Given the description of an element on the screen output the (x, y) to click on. 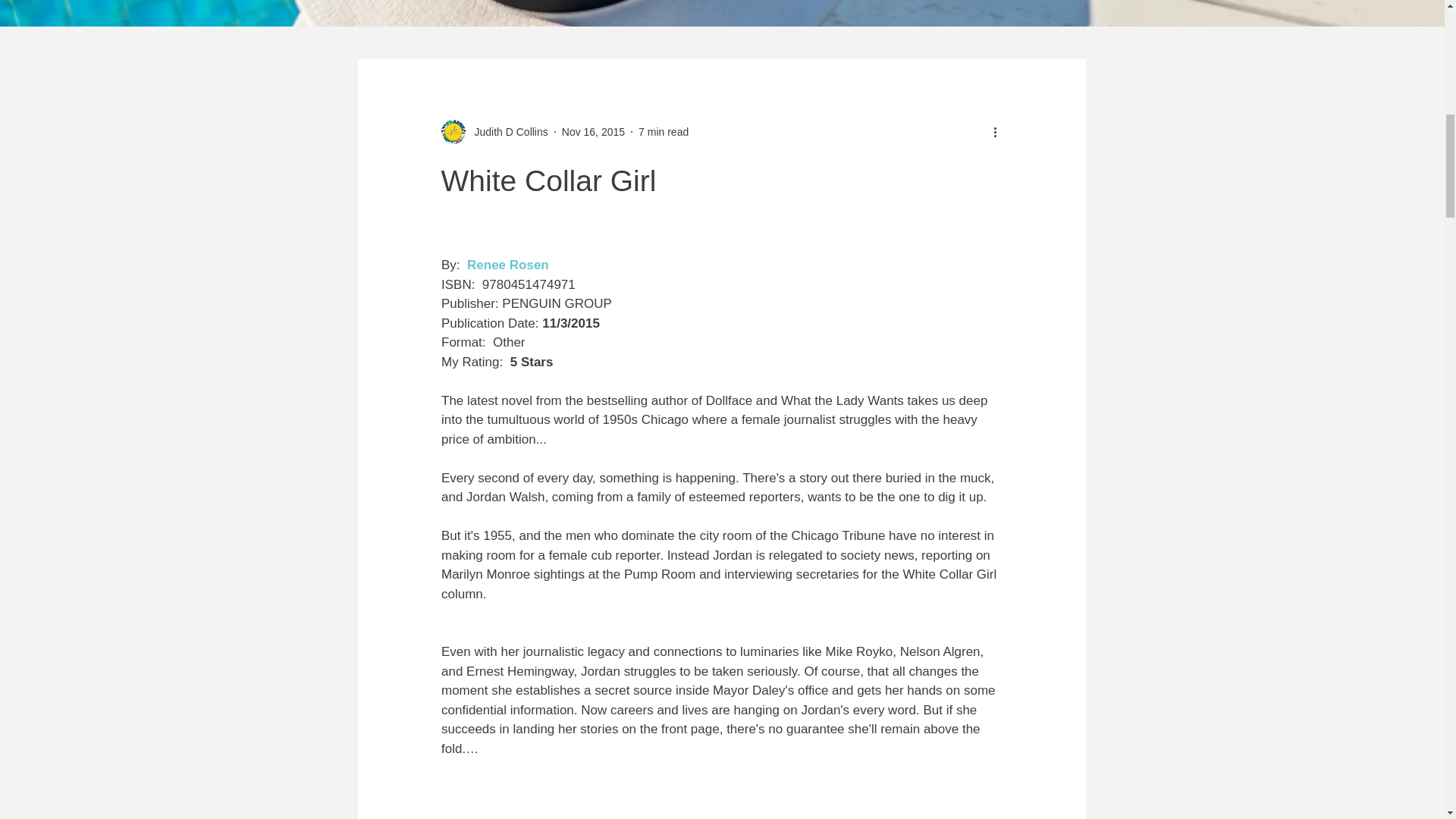
7 min read (663, 132)
Nov 16, 2015 (593, 132)
Judith D Collins (506, 132)
